Given the description of an element on the screen output the (x, y) to click on. 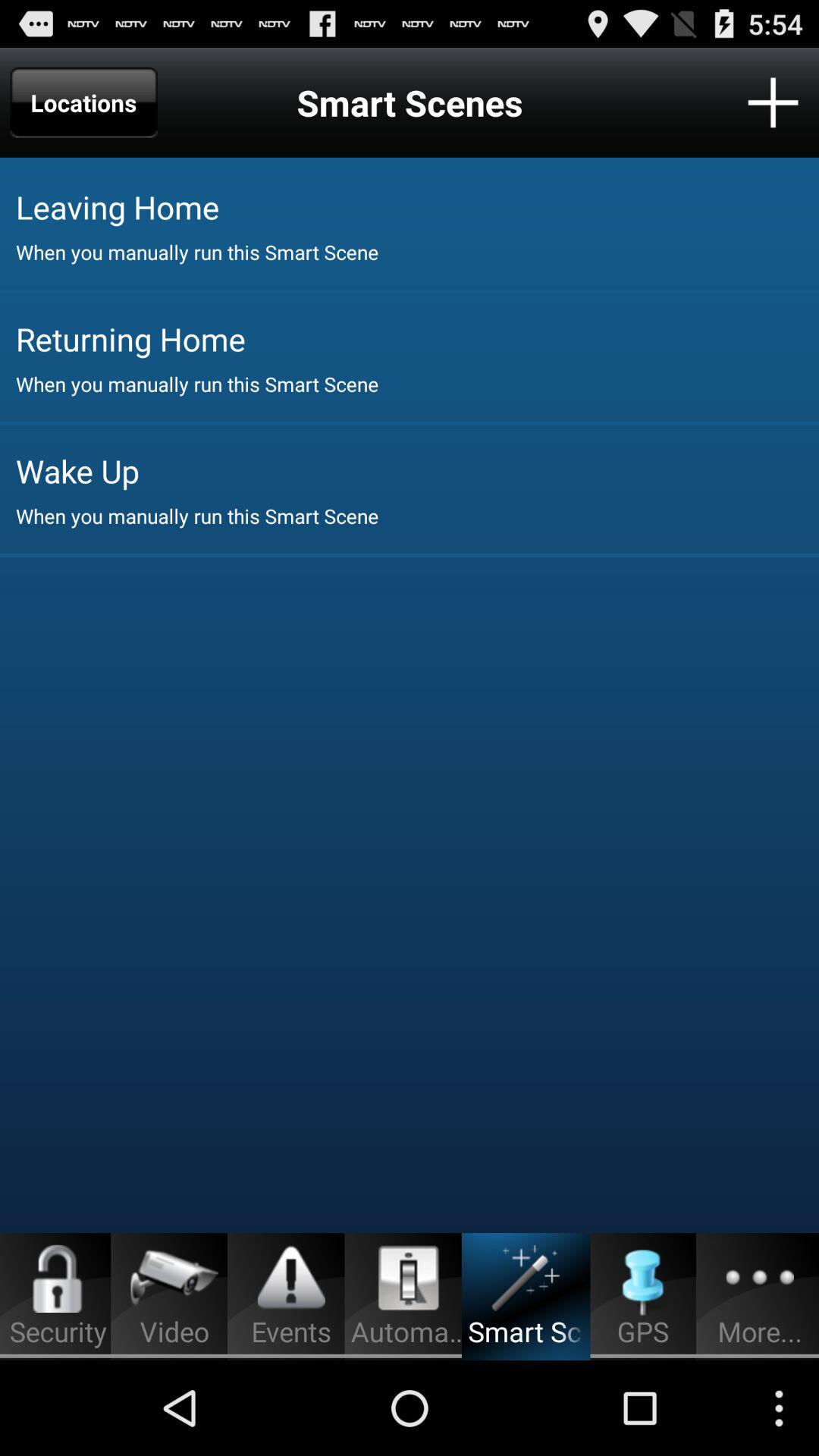
open wake up item (417, 470)
